Given the description of an element on the screen output the (x, y) to click on. 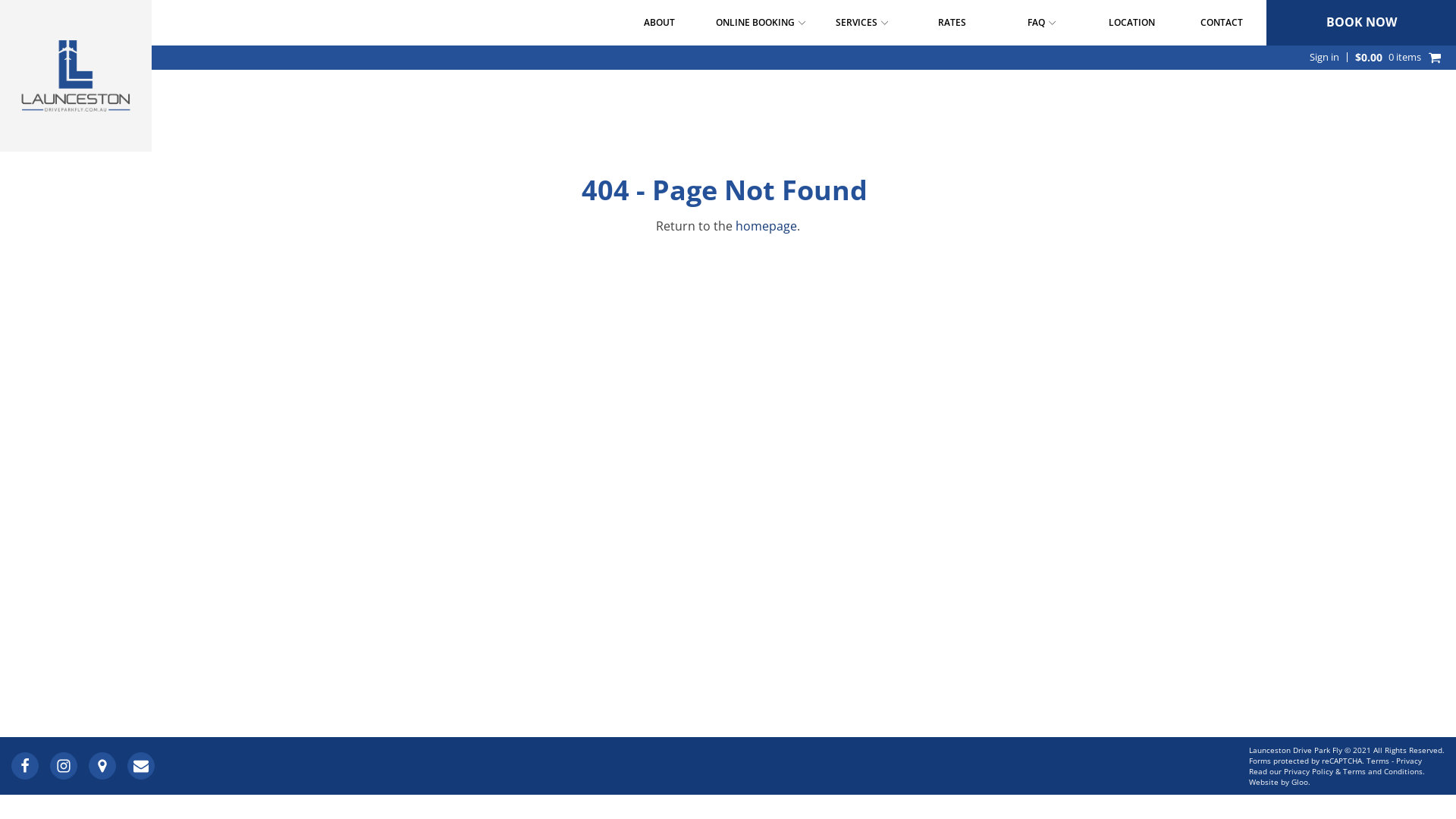
Sign in Element type: text (1332, 57)
Terms Element type: text (1377, 760)
RATES Element type: text (951, 22)
ABOUT Element type: text (659, 22)
Read our Privacy Policy & Terms and Conditions. Element type: text (1336, 770)
Website by Gloo. Element type: text (1279, 781)
LOCATION Element type: text (1131, 22)
SERVICES Element type: text (861, 22)
$0.00
0 items Element type: text (1397, 57)
Privacy Element type: text (1408, 760)
ONLINE BOOKING Element type: text (760, 22)
FAQ Element type: text (1041, 22)
homepage Element type: text (766, 226)
CONTACT Element type: text (1221, 22)
